Given the description of an element on the screen output the (x, y) to click on. 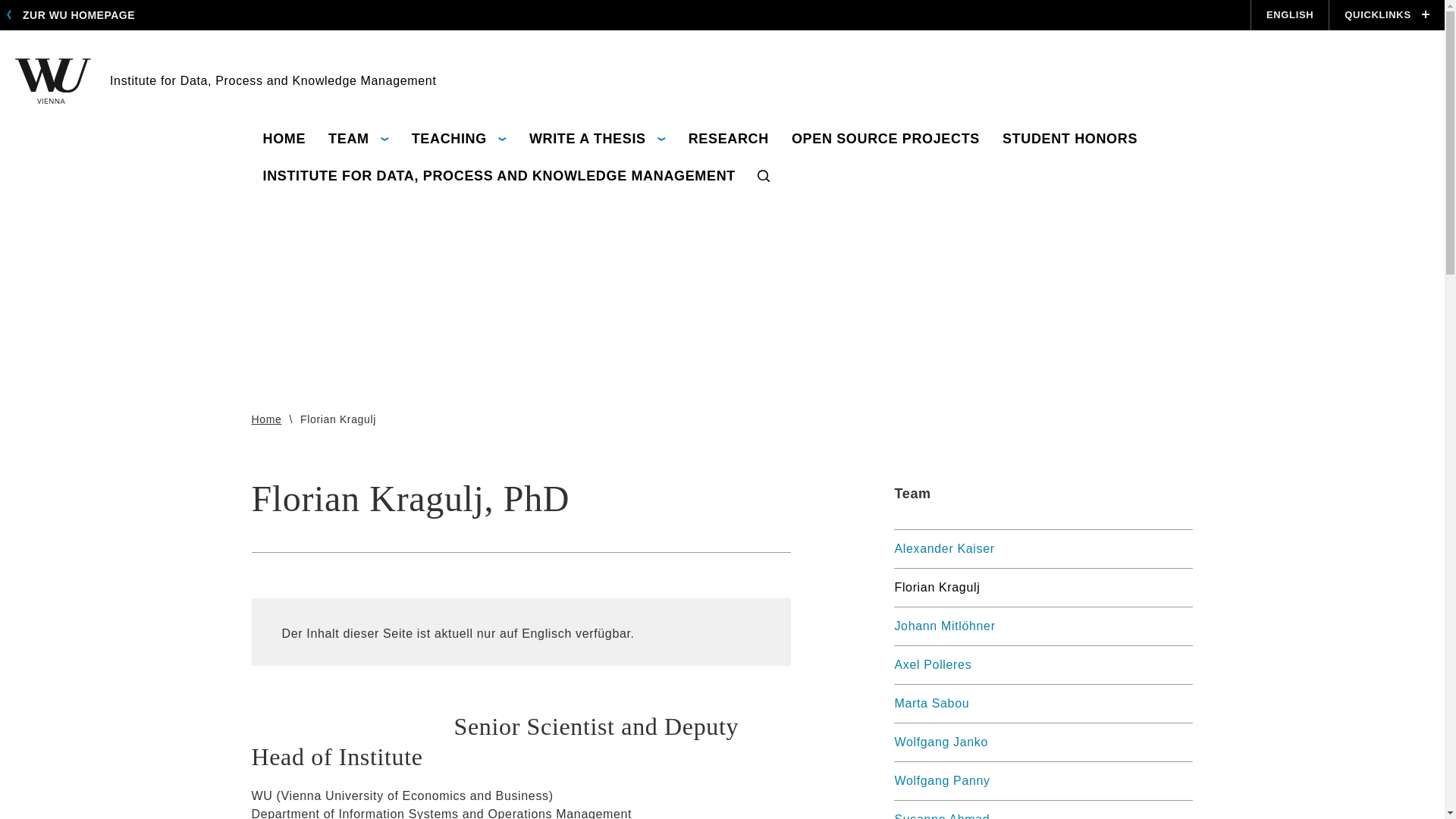
LinkedIn (1185, 4)
Facebook (1053, 4)
WU Blog (1106, 4)
Facebook (1053, 4)
TEAM (358, 140)
YouTube (1132, 4)
WU Blog (1106, 4)
Suche (763, 177)
HOME (284, 140)
X (1159, 4)
X (1159, 4)
ZUR WU HOMEPAGE (74, 15)
Instagram (1079, 4)
ENGLISH (1288, 15)
Instagram (1079, 4)
